Given the description of an element on the screen output the (x, y) to click on. 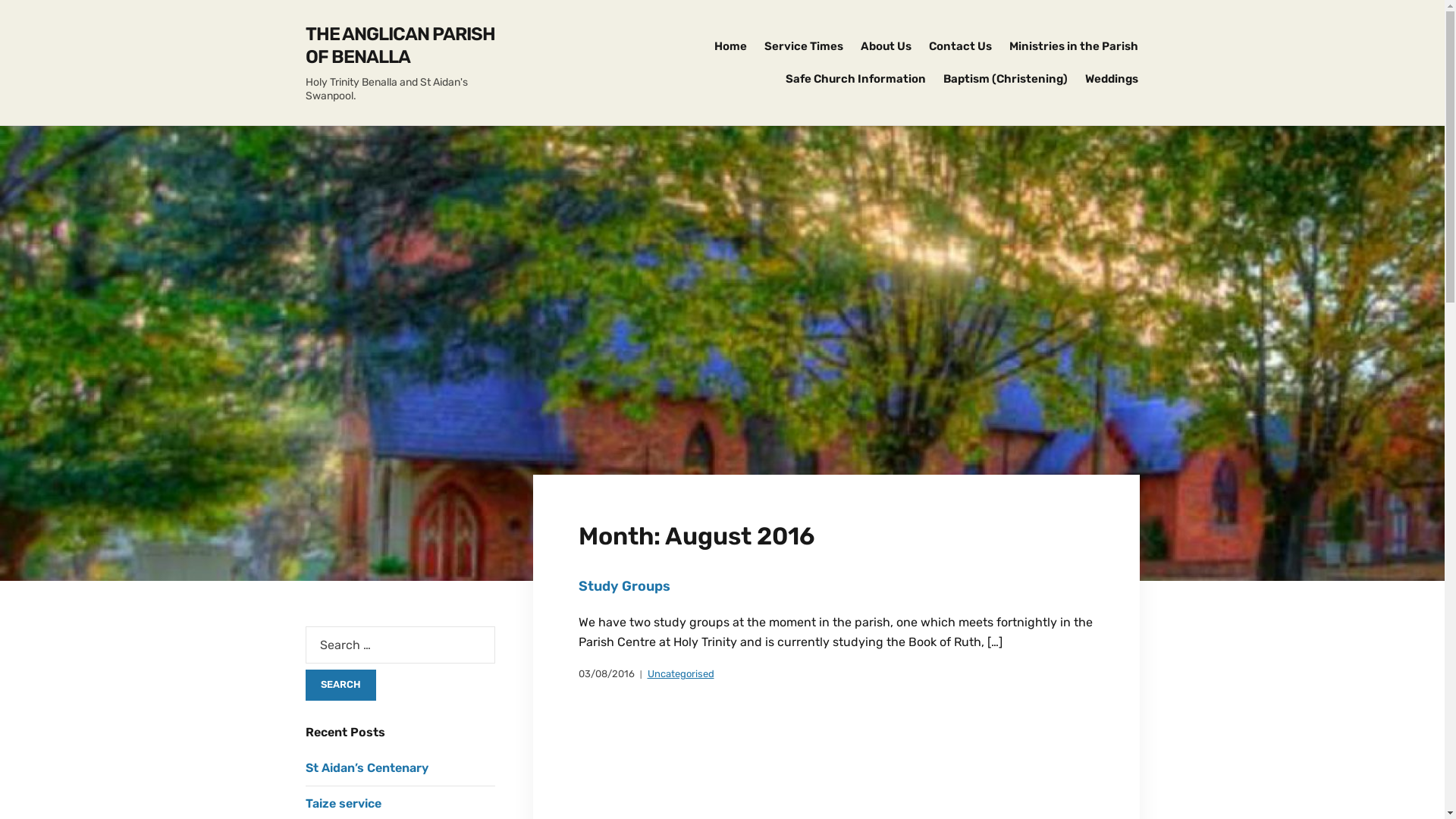
About Us Element type: text (885, 46)
Service Times Element type: text (803, 46)
Study Groups Element type: text (623, 585)
Weddings Element type: text (1110, 78)
03/08/2016 Element type: text (605, 674)
Uncategorised Element type: text (680, 674)
Baptism (Christening) Element type: text (1005, 78)
Ministries in the Parish Element type: text (1073, 46)
Search Element type: text (339, 684)
Contact Us Element type: text (959, 46)
Safe Church Information Element type: text (855, 78)
Home Element type: text (730, 46)
Taize service Element type: text (342, 803)
THE ANGLICAN PARISH OF BENALLA Element type: text (399, 45)
